Given the description of an element on the screen output the (x, y) to click on. 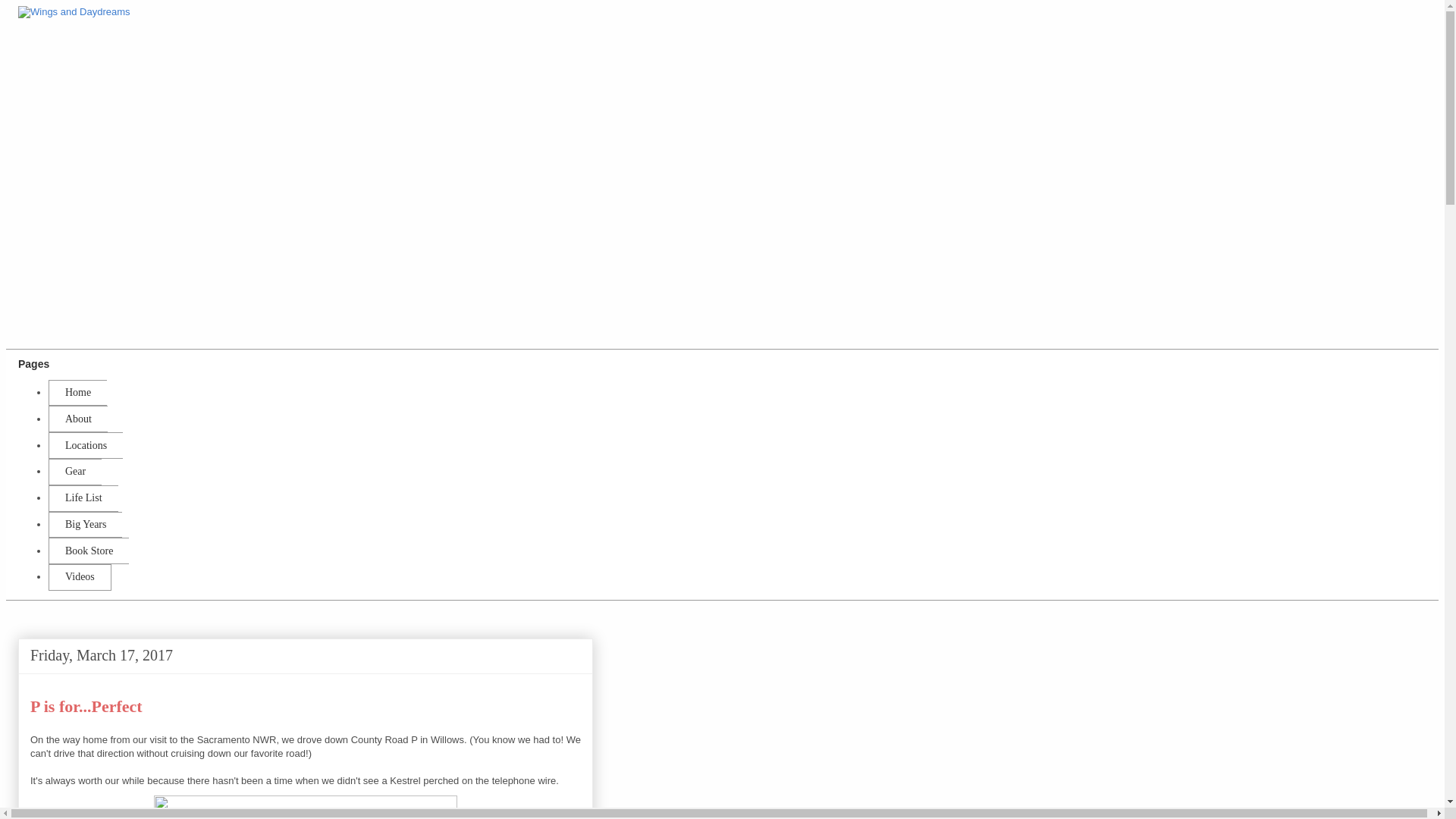
Home (77, 393)
Life List (82, 498)
Videos (80, 577)
American Kestrel (305, 803)
Big Years (85, 524)
Locations (85, 445)
Gear (74, 471)
Book Store (88, 550)
About (77, 418)
